Given the description of an element on the screen output the (x, y) to click on. 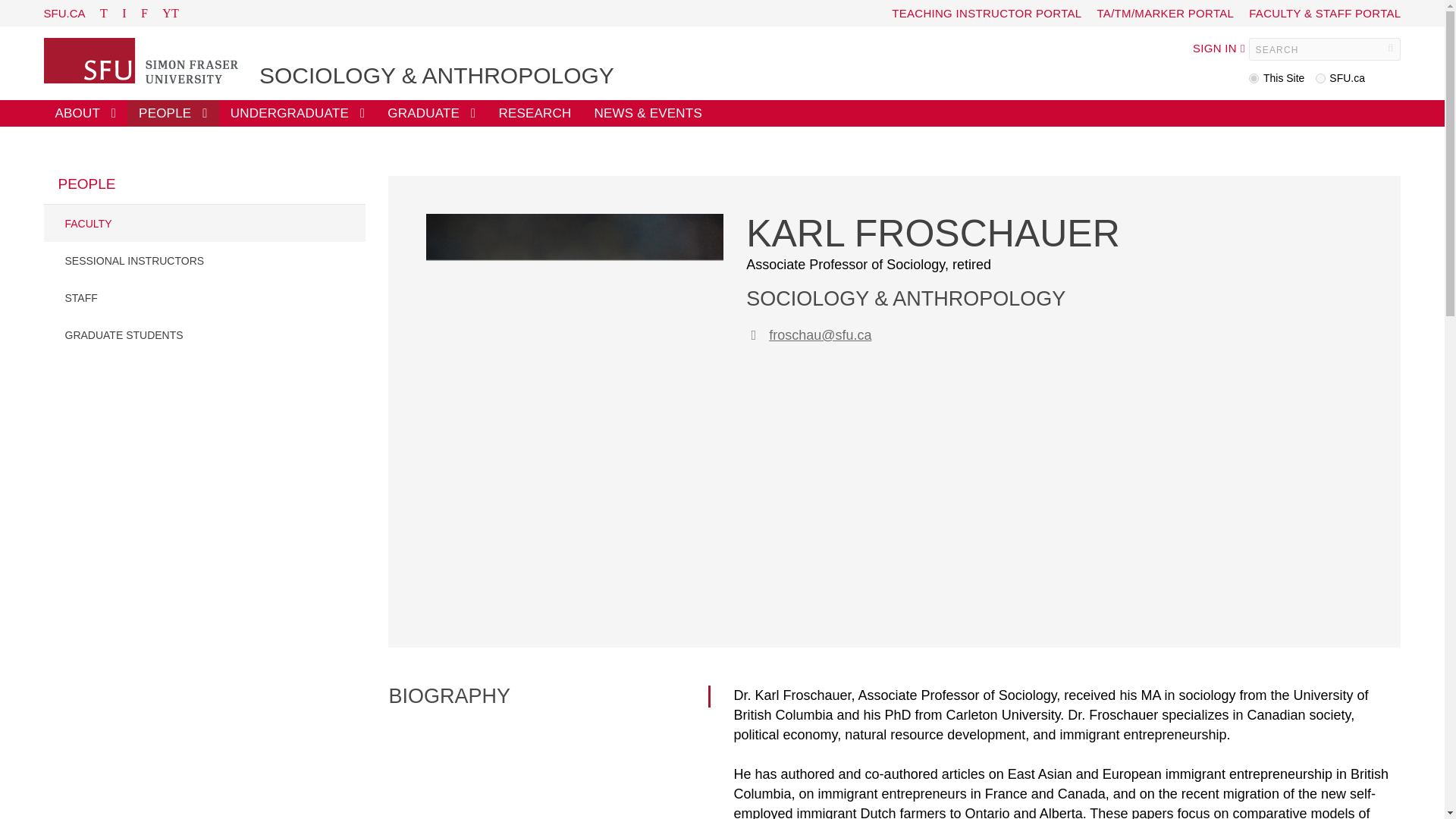
ABOUT (85, 112)
GRADUATE (430, 112)
YT (169, 13)
Teaching Instructor Portal (986, 11)
UNDERGRADUATE (298, 112)
site (1254, 78)
SFU.CA (64, 11)
TEACHING INSTRUCTOR PORTAL (986, 11)
sfu (1320, 78)
PEOPLE (173, 112)
